Given the description of an element on the screen output the (x, y) to click on. 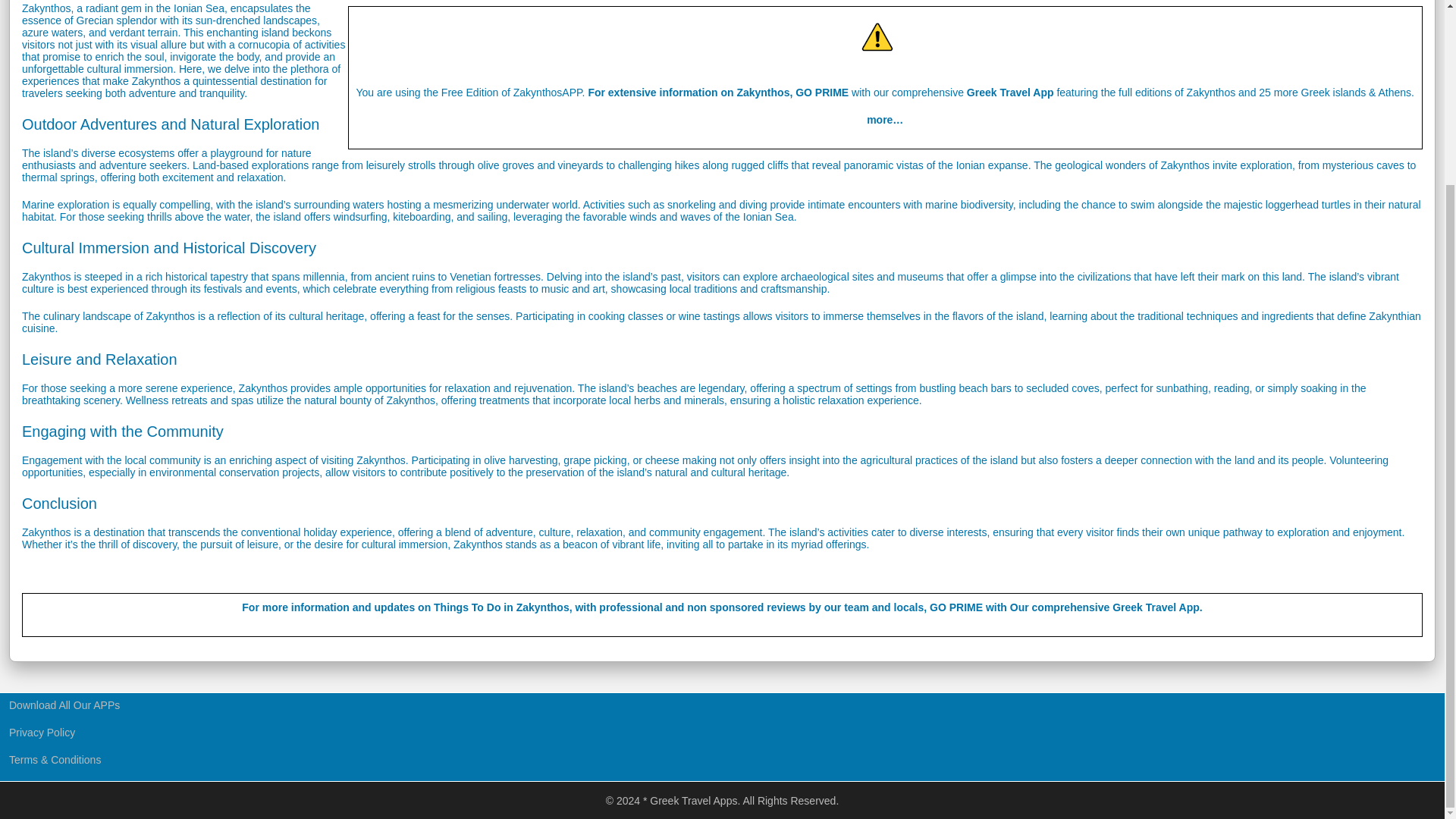
Privacy Policy (41, 732)
Download All Our APPs  (65, 705)
